Given the description of an element on the screen output the (x, y) to click on. 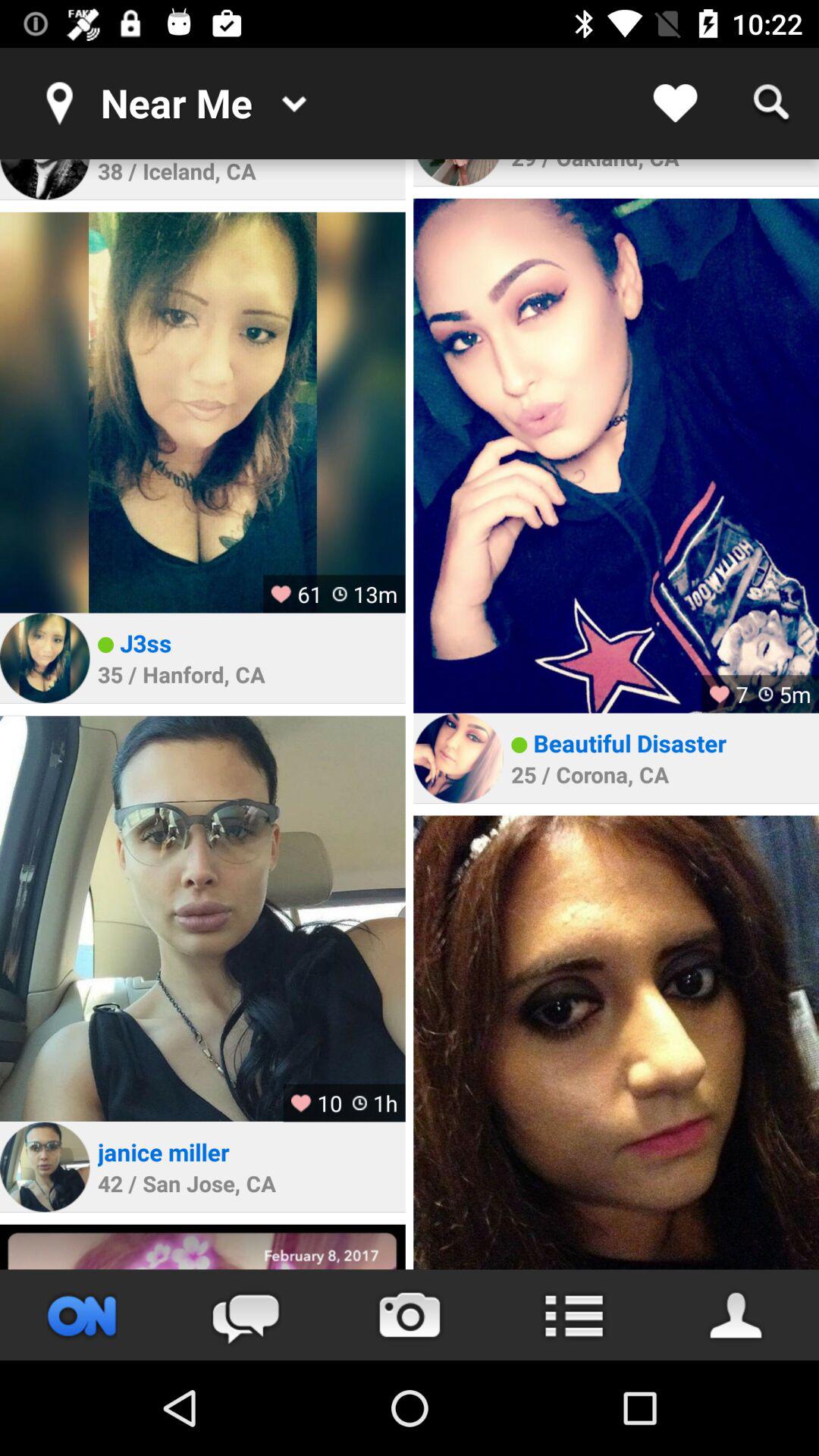
advertisement (202, 1246)
